Given the description of an element on the screen output the (x, y) to click on. 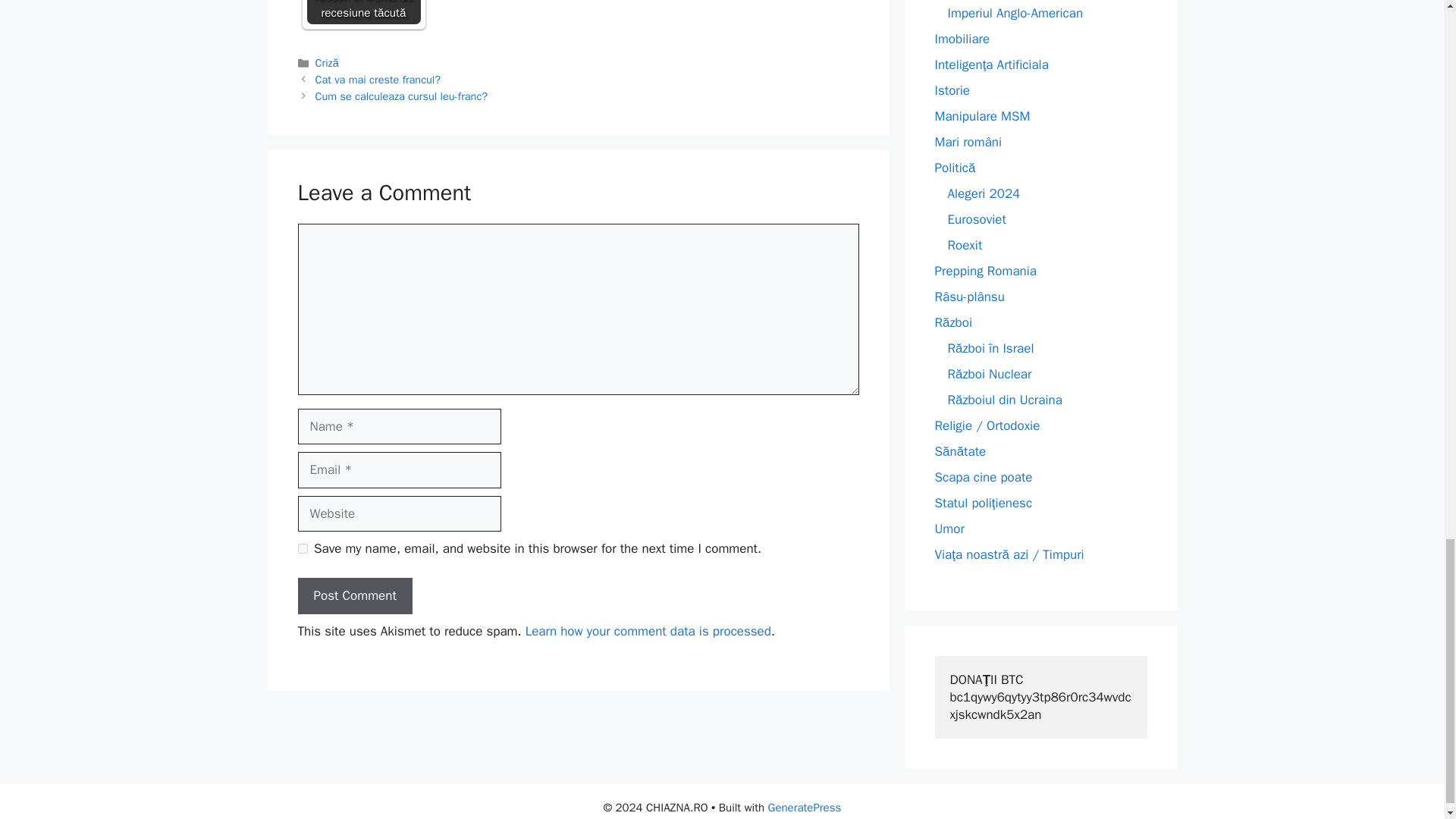
yes (302, 548)
Cat va mai creste francul? (378, 79)
Learn how your comment data is processed (648, 631)
Post Comment (354, 596)
Post Comment (354, 596)
Cum se calculeaza cursul leu-franc? (401, 96)
